Given the description of an element on the screen output the (x, y) to click on. 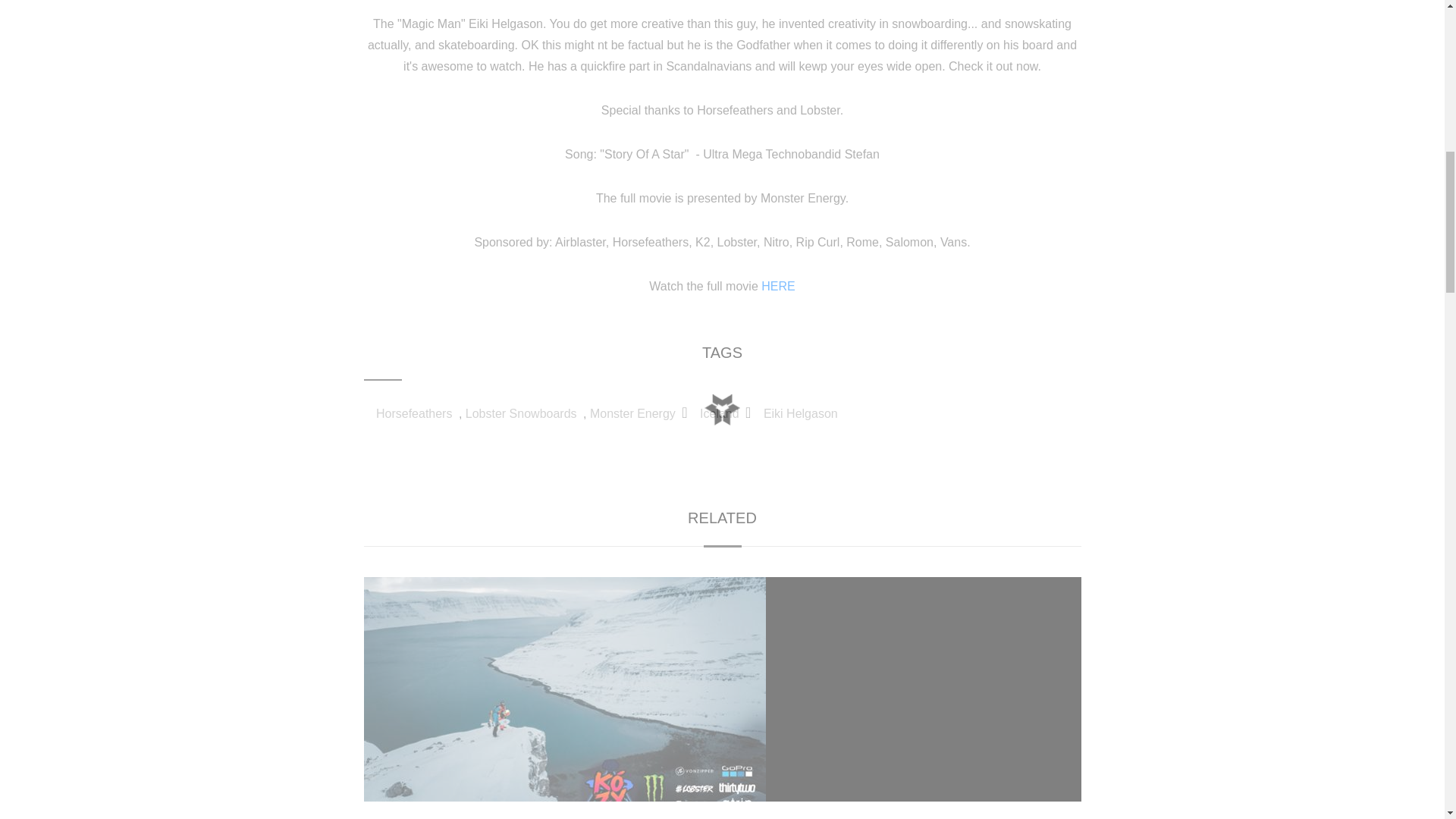
Monster Energy (632, 413)
Iceland (719, 413)
HERE (777, 286)
Horsefeathers (413, 413)
Eiki Helgason (800, 413)
Lobster Snowboards (520, 413)
